Given the description of an element on the screen output the (x, y) to click on. 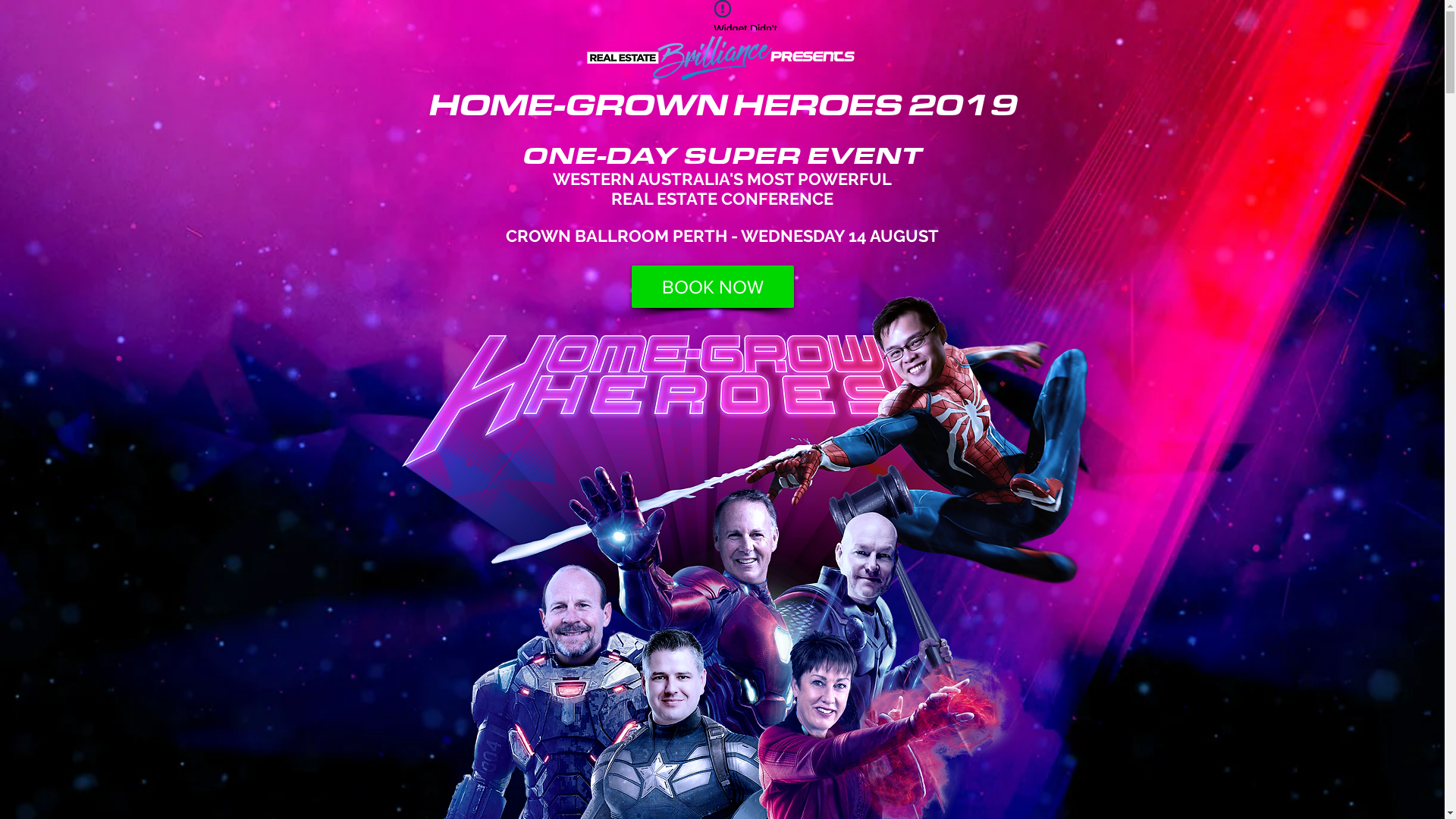
BOOK NOW Element type: text (711, 286)
